Given the description of an element on the screen output the (x, y) to click on. 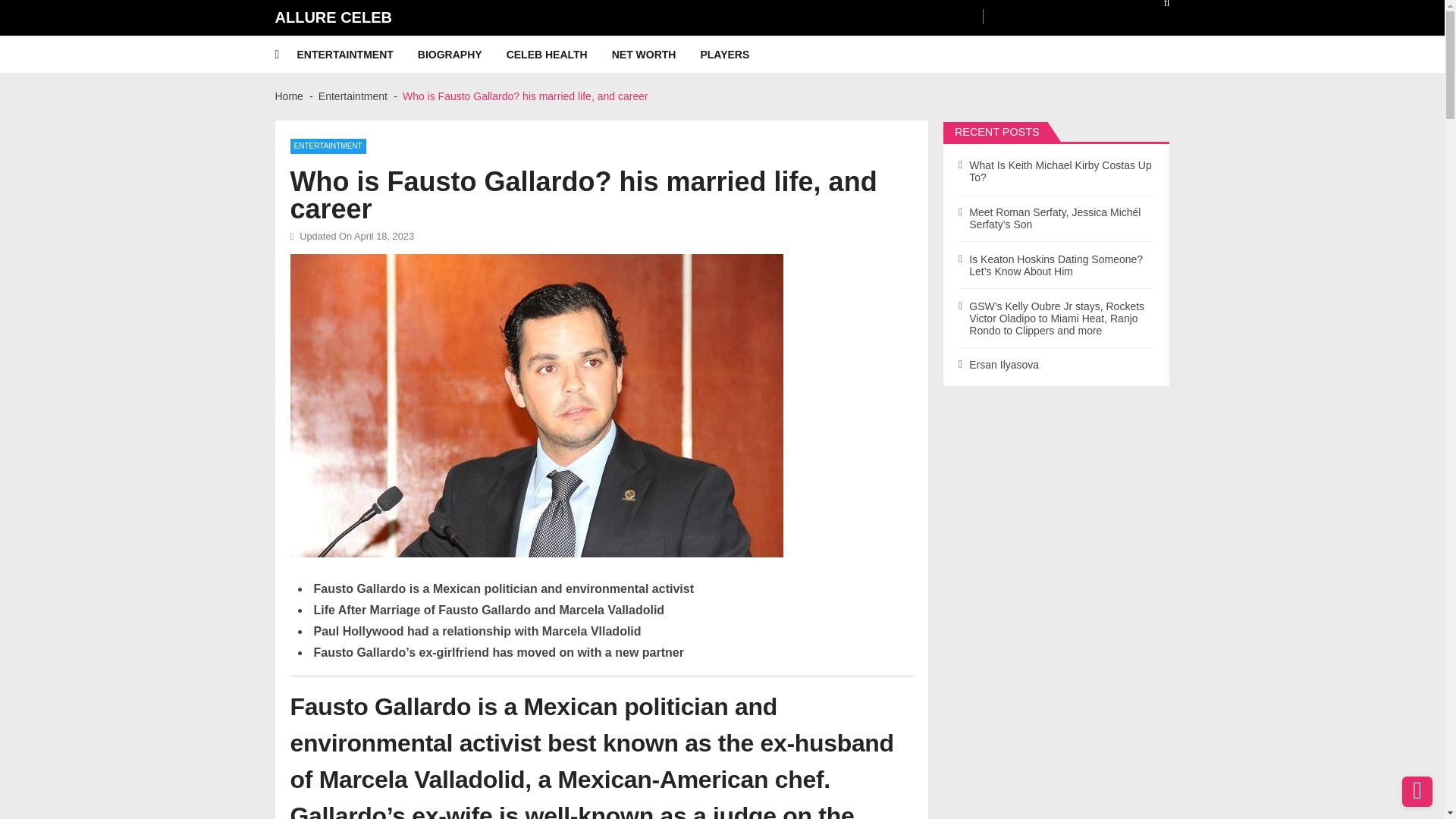
PLAYERS (736, 54)
Entertaintment (352, 96)
ENTERTAINTMENT (327, 145)
Search (1156, 7)
BIOGRAPHY (461, 54)
Search (1156, 7)
NET WORTH (655, 54)
ENTERTAINTMENT (357, 54)
ALLURE CELEB (333, 17)
CELEB HEALTH (558, 54)
